Given the description of an element on the screen output the (x, y) to click on. 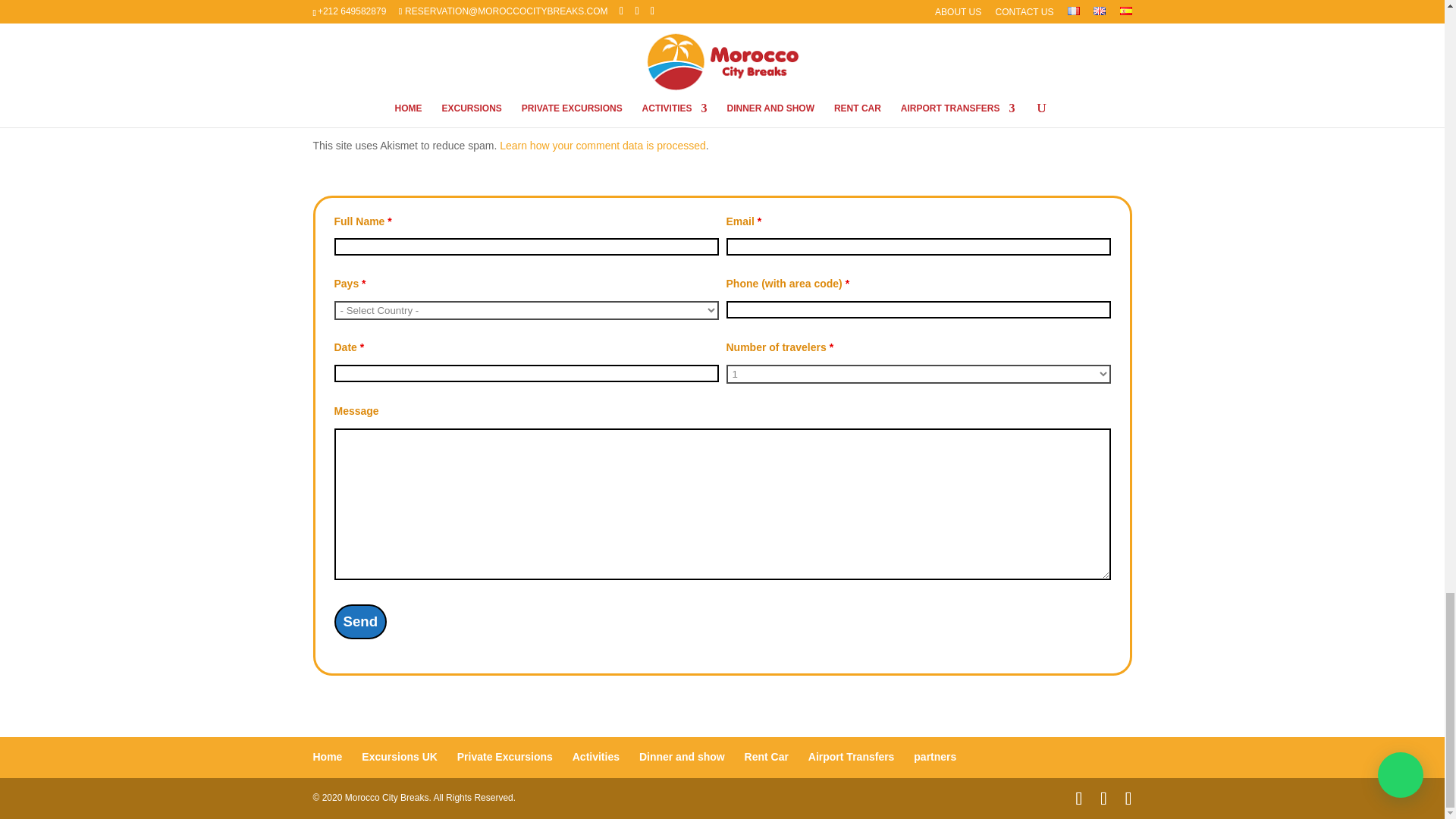
Send (360, 621)
